Given the description of an element on the screen output the (x, y) to click on. 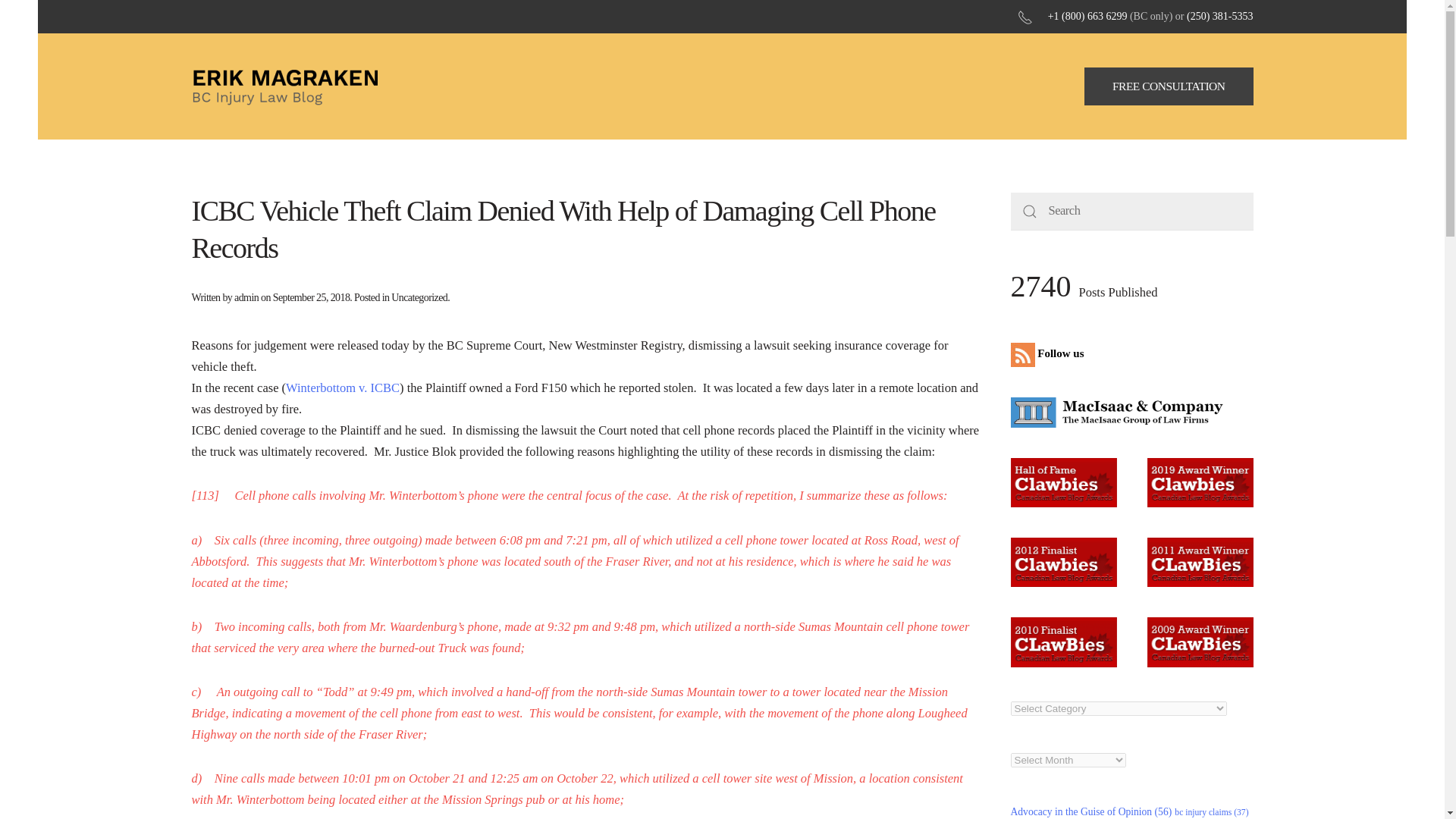
Follow us (1050, 353)
Uncategorized (418, 297)
admin (246, 297)
Winterbottom v. ICBC (341, 387)
FREE CONSULTATION (1168, 86)
